Given the description of an element on the screen output the (x, y) to click on. 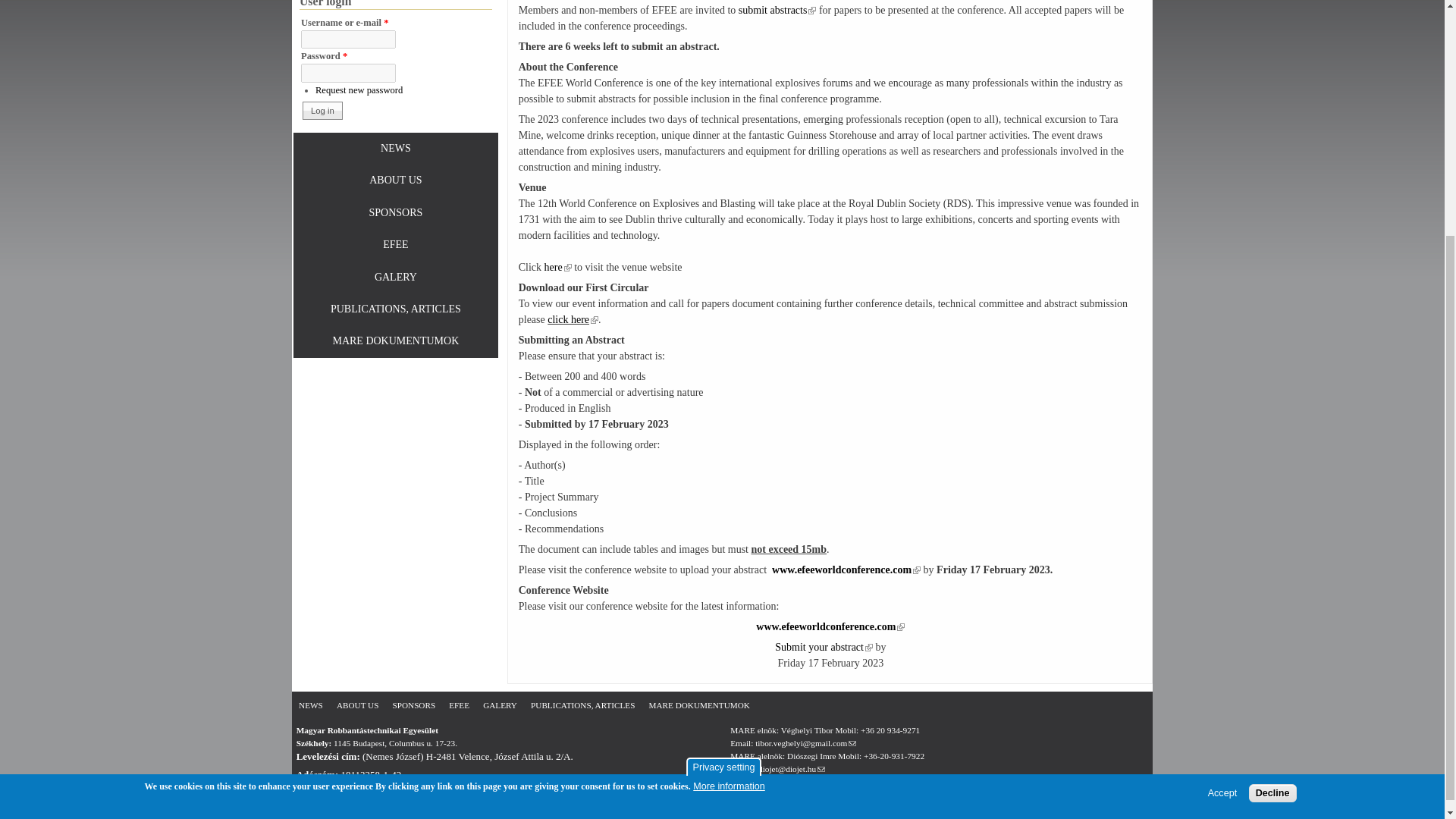
MARE DOKUMENTUMOK (395, 340)
SPONSORS (414, 705)
Log in (322, 110)
PUBLICATIONS, ARTICLES (582, 705)
GALERY (395, 277)
MARE dokumentumok (395, 340)
MARE DOKUMENTUMOK (699, 705)
MARE dokumentumok (699, 705)
GALERY (499, 705)
NEWS (310, 705)
